Given the description of an element on the screen output the (x, y) to click on. 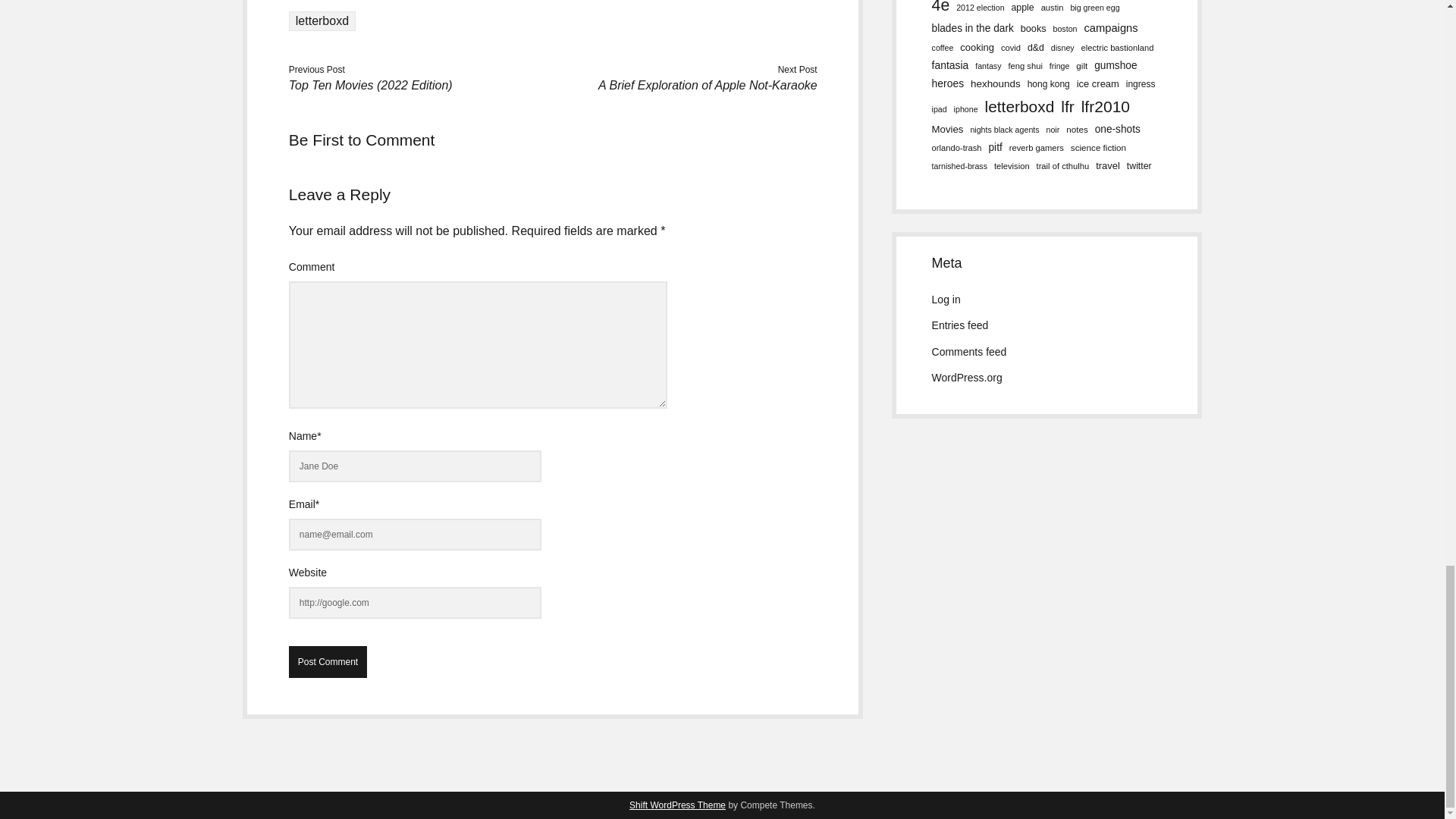
letterboxd (321, 21)
4e (940, 9)
A Brief Exploration of Apple Not-Karaoke (707, 84)
View all posts tagged letterboxd (321, 21)
Post Comment (327, 662)
Post Comment (327, 662)
